Given the description of an element on the screen output the (x, y) to click on. 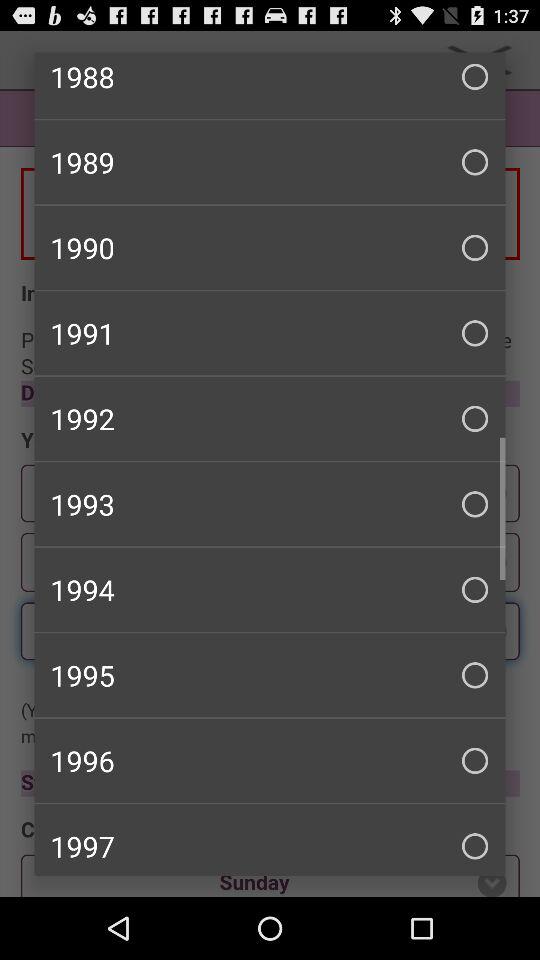
choose item above the 1996 checkbox (269, 675)
